Given the description of an element on the screen output the (x, y) to click on. 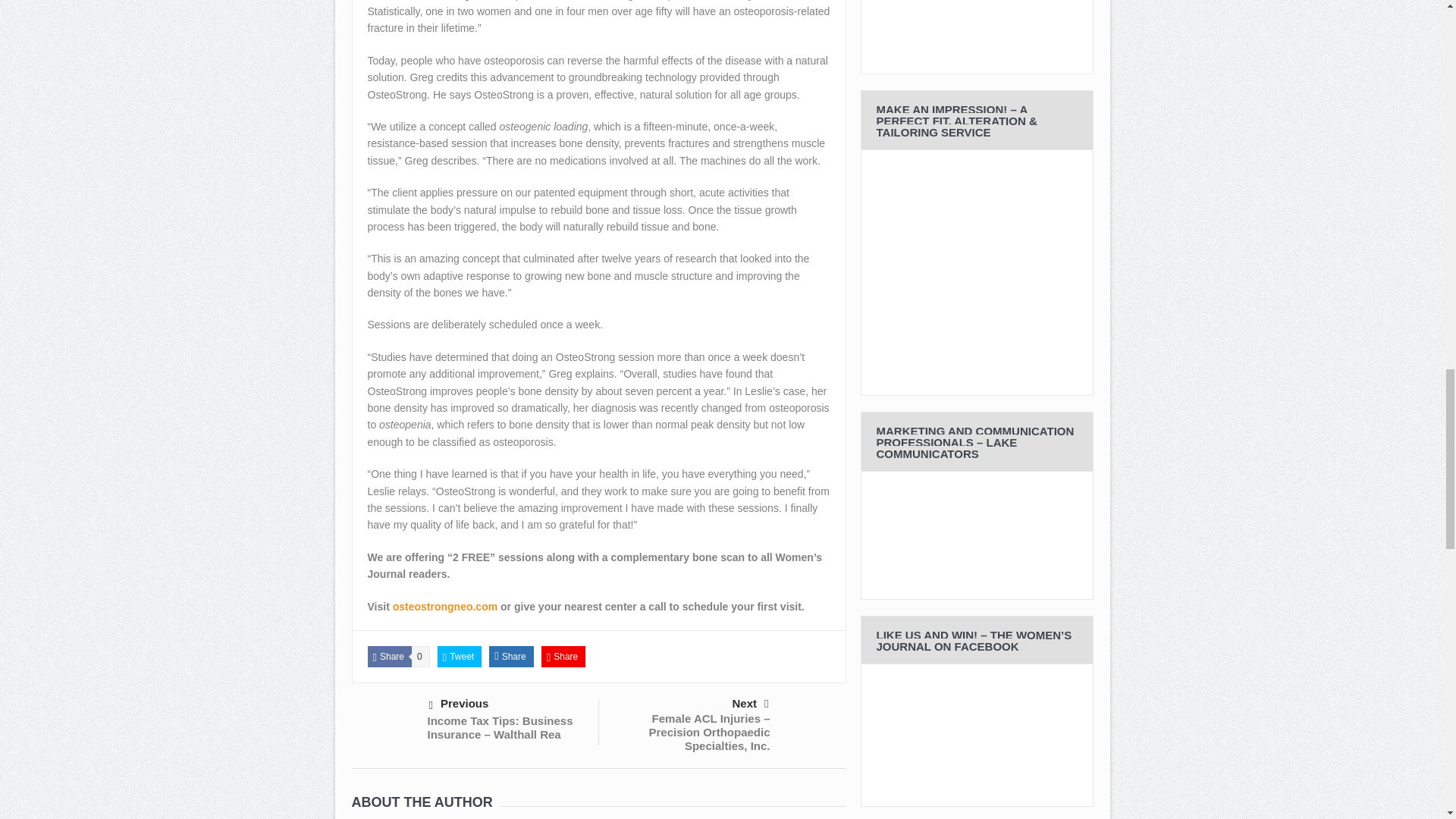
Next (690, 703)
osteostrongneo.com (445, 606)
Previous (508, 704)
